Given the description of an element on the screen output the (x, y) to click on. 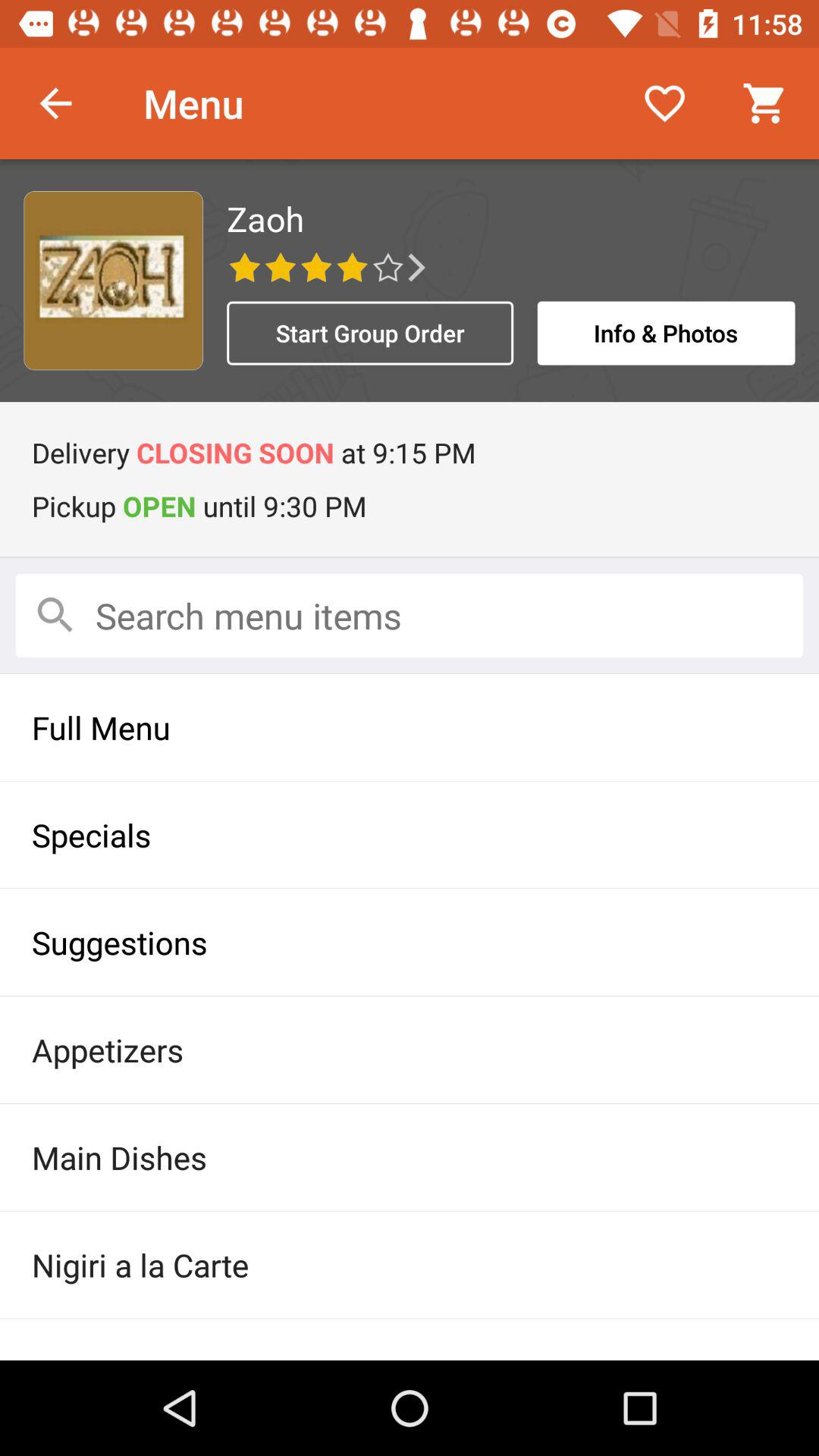
press item to the left of menu item (55, 103)
